Given the description of an element on the screen output the (x, y) to click on. 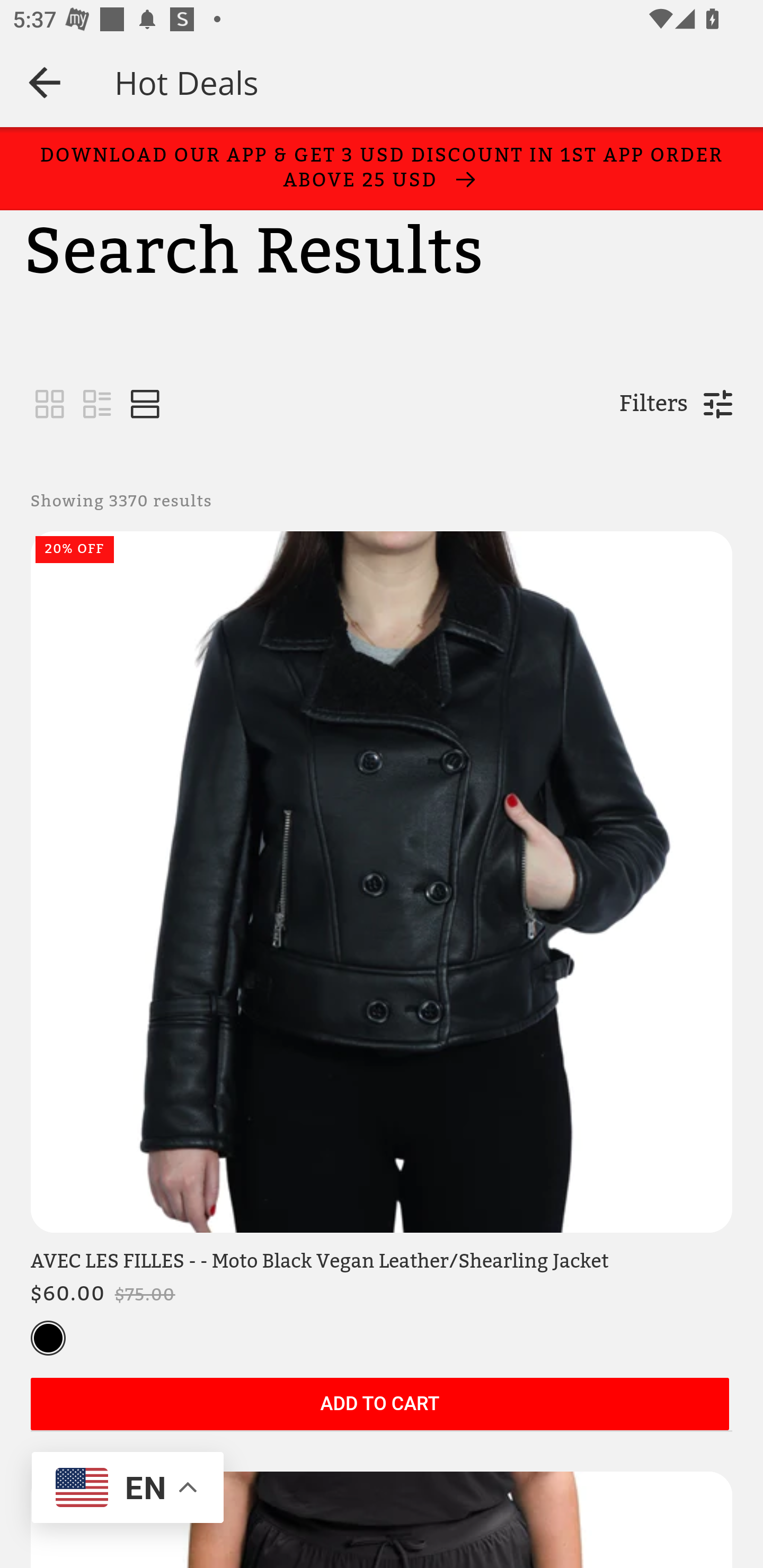
Navigate up (44, 82)
Filters (653, 404)
search-results-page?collection=sale# (50, 404)
search-results-page?collection=sale# (97, 404)
search-results-page?collection=sale# (145, 404)
Black (48, 1338)
ADD TO CART (379, 1404)
